Given the description of an element on the screen output the (x, y) to click on. 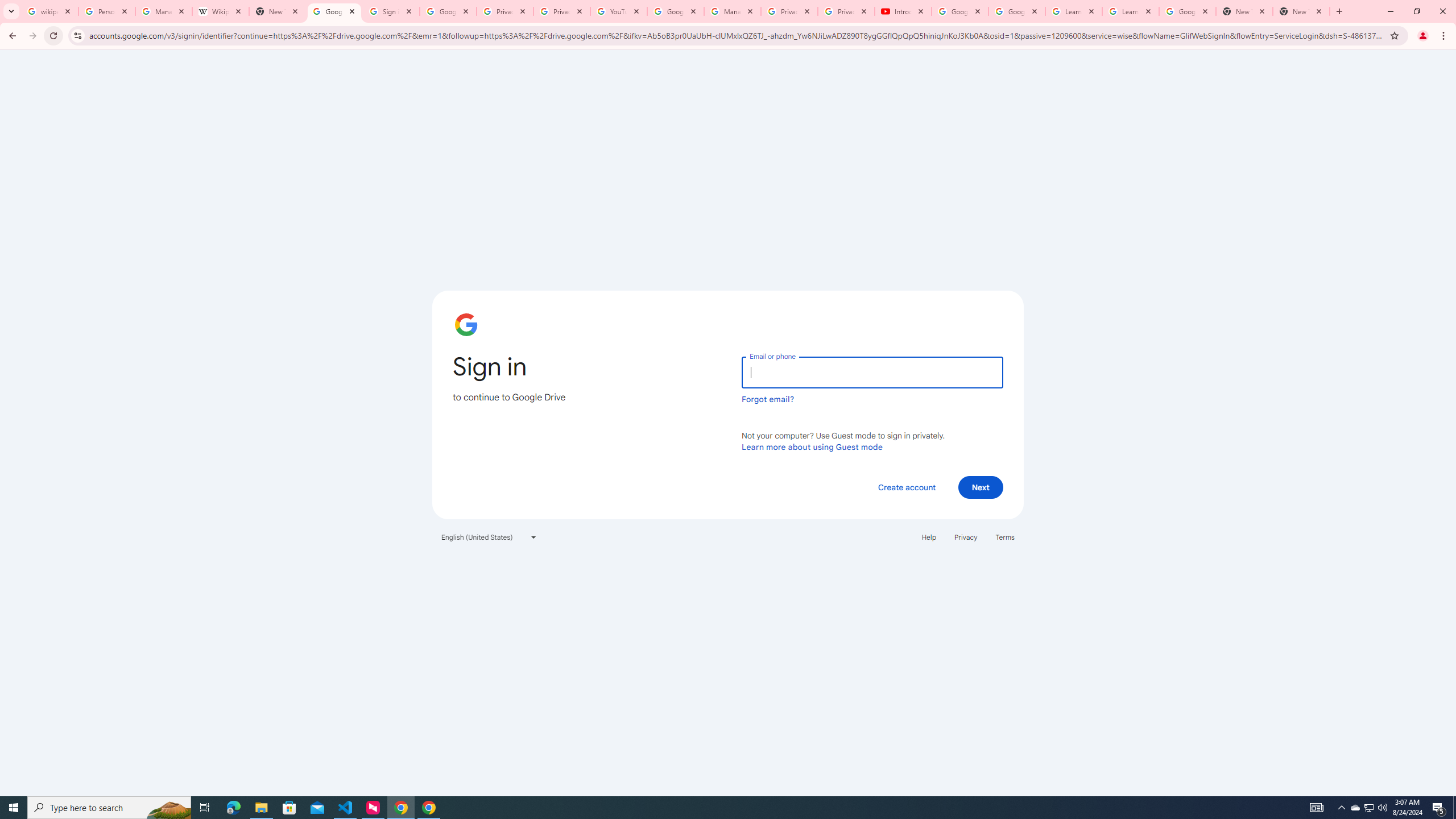
Learn more about using Guest mode (812, 446)
